Given the description of an element on the screen output the (x, y) to click on. 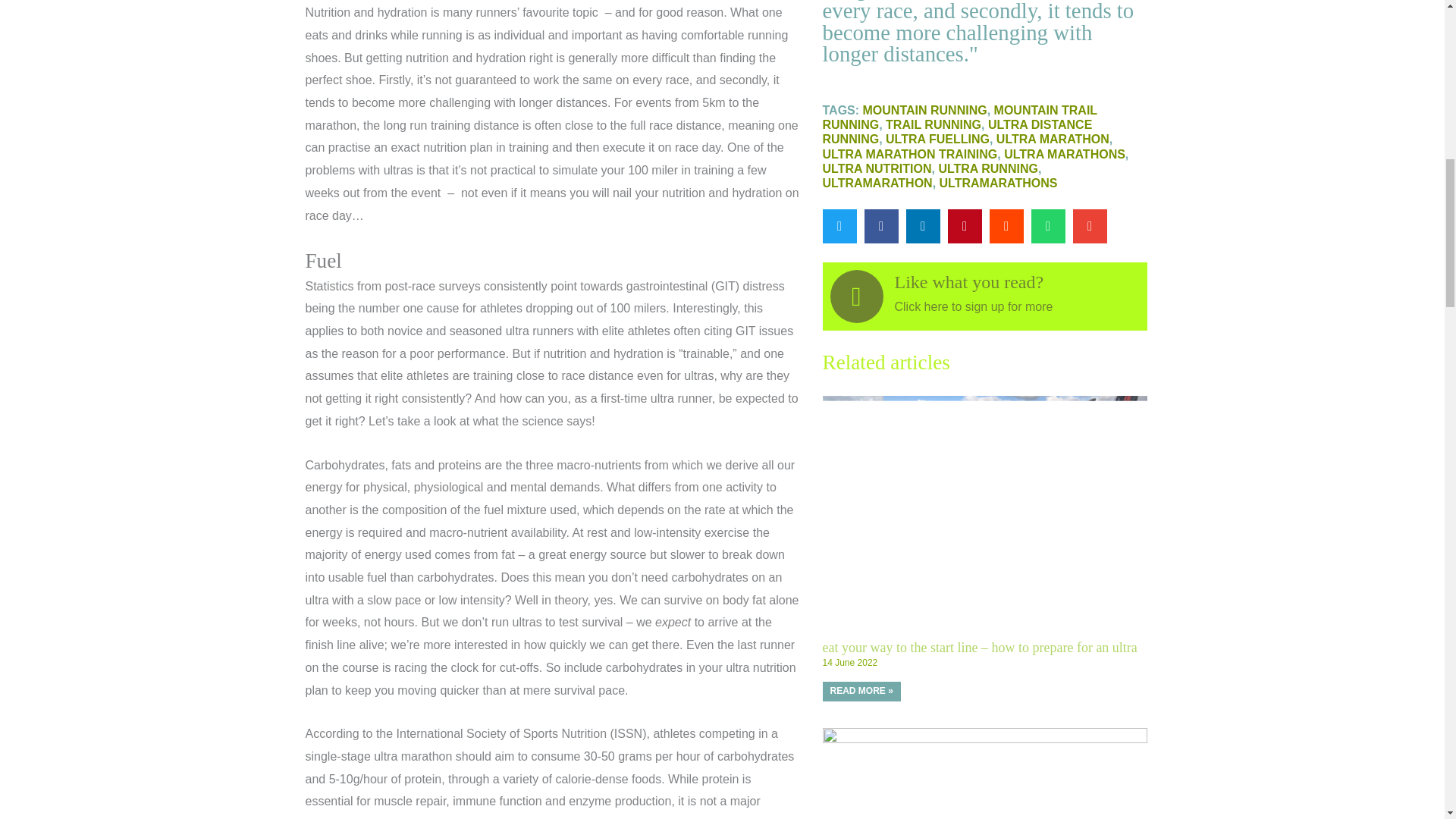
ULTRA MARATHON TRAINING (909, 154)
MOUNTAIN TRAIL RUNNING (959, 117)
Like what you read? (969, 281)
ULTRA FUELLING (937, 138)
ULTRAMARATHONS (998, 182)
TRAIL RUNNING (933, 124)
ULTRAMARATHON (876, 182)
MOUNTAIN RUNNING (925, 110)
ULTRA NUTRITION (876, 168)
ULTRA DISTANCE RUNNING (957, 131)
